Given the description of an element on the screen output the (x, y) to click on. 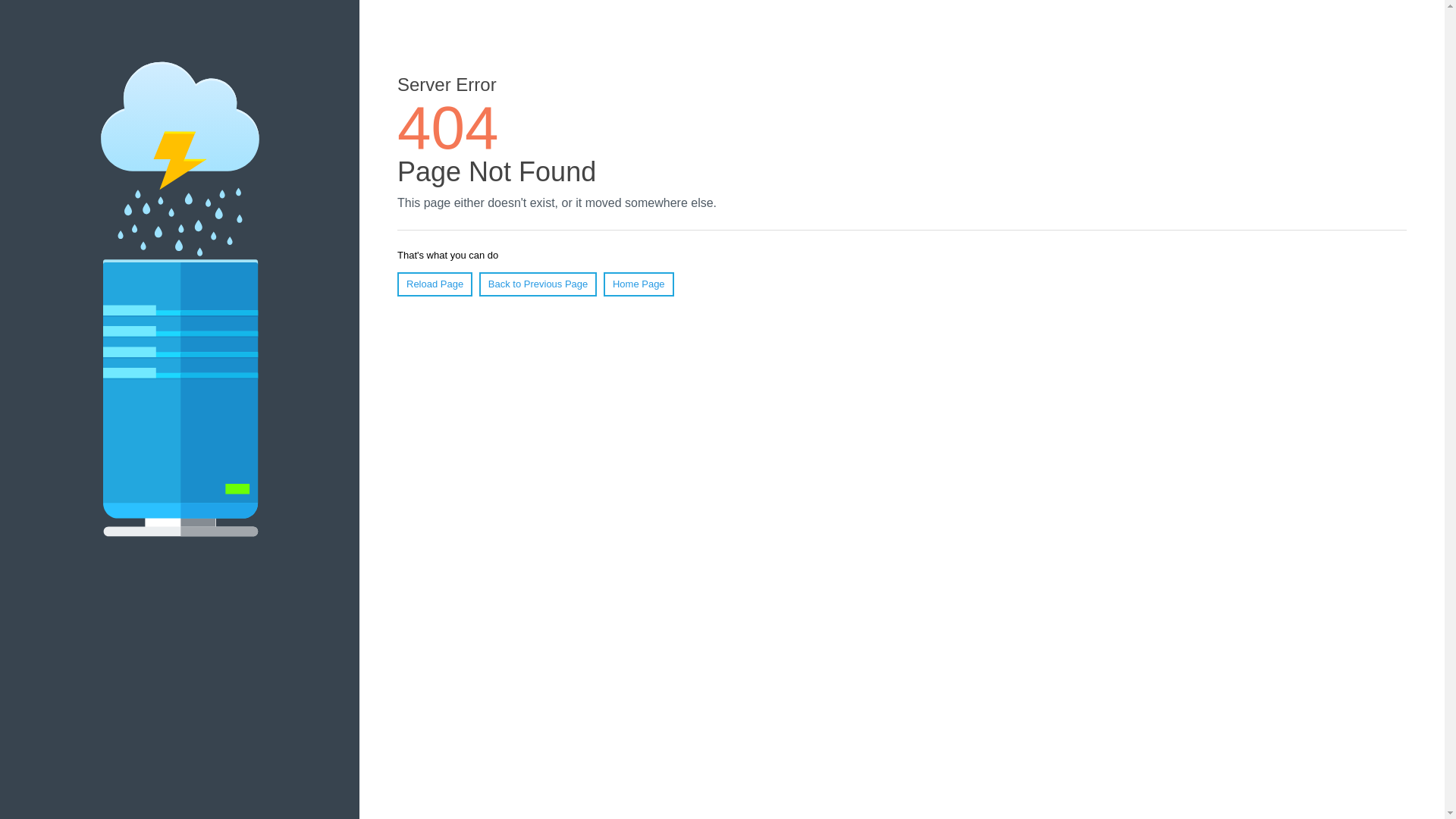
Reload Page Element type: text (434, 284)
Home Page Element type: text (638, 284)
Back to Previous Page Element type: text (538, 284)
